Given the description of an element on the screen output the (x, y) to click on. 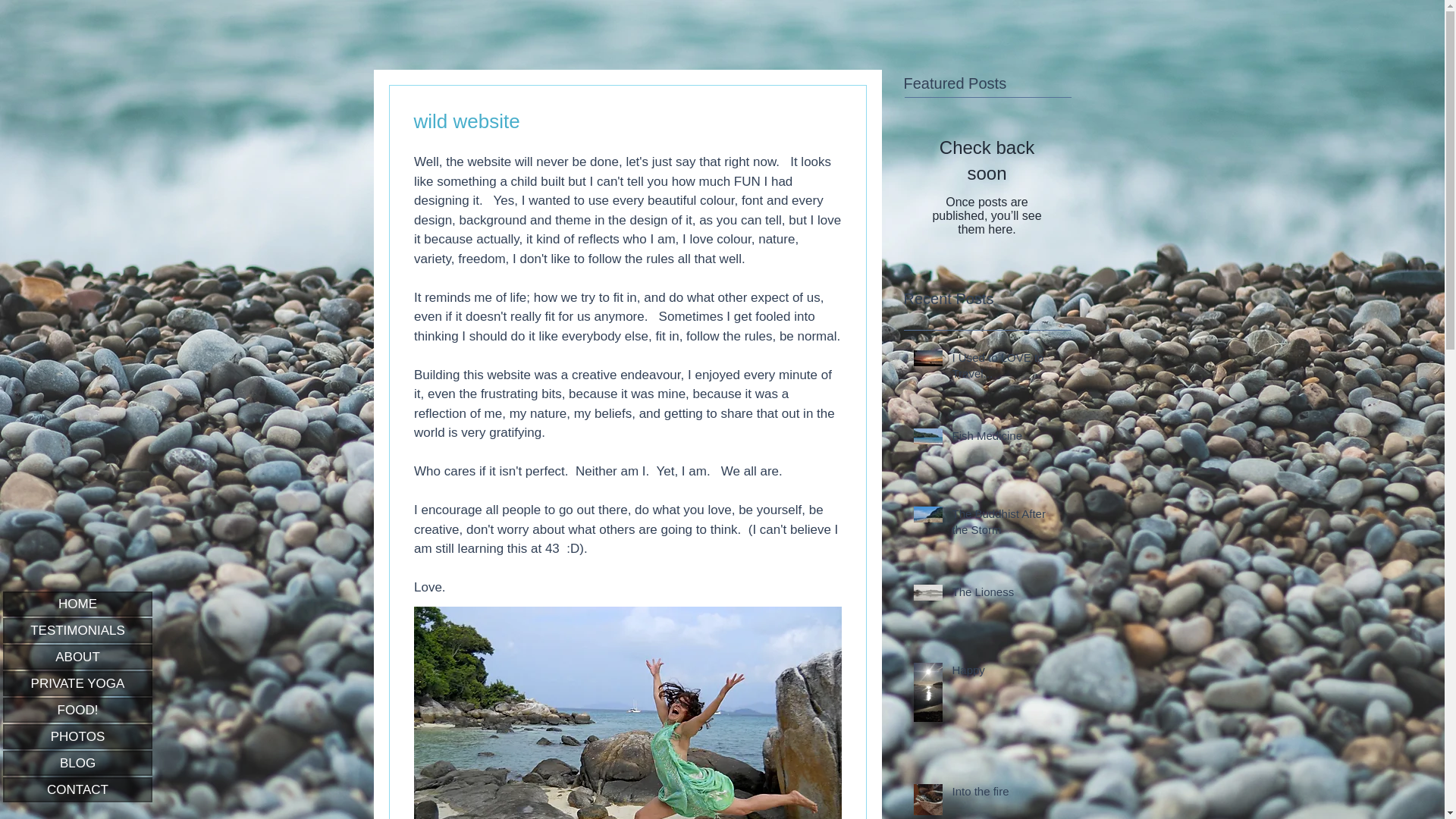
Happy (1006, 672)
I Used to LOVE to Travel... (1006, 368)
Into the fire (1006, 793)
Fish Medicine (1006, 438)
The Lioness (1006, 594)
The Buddhist After the Storm (1006, 524)
